Given the description of an element on the screen output the (x, y) to click on. 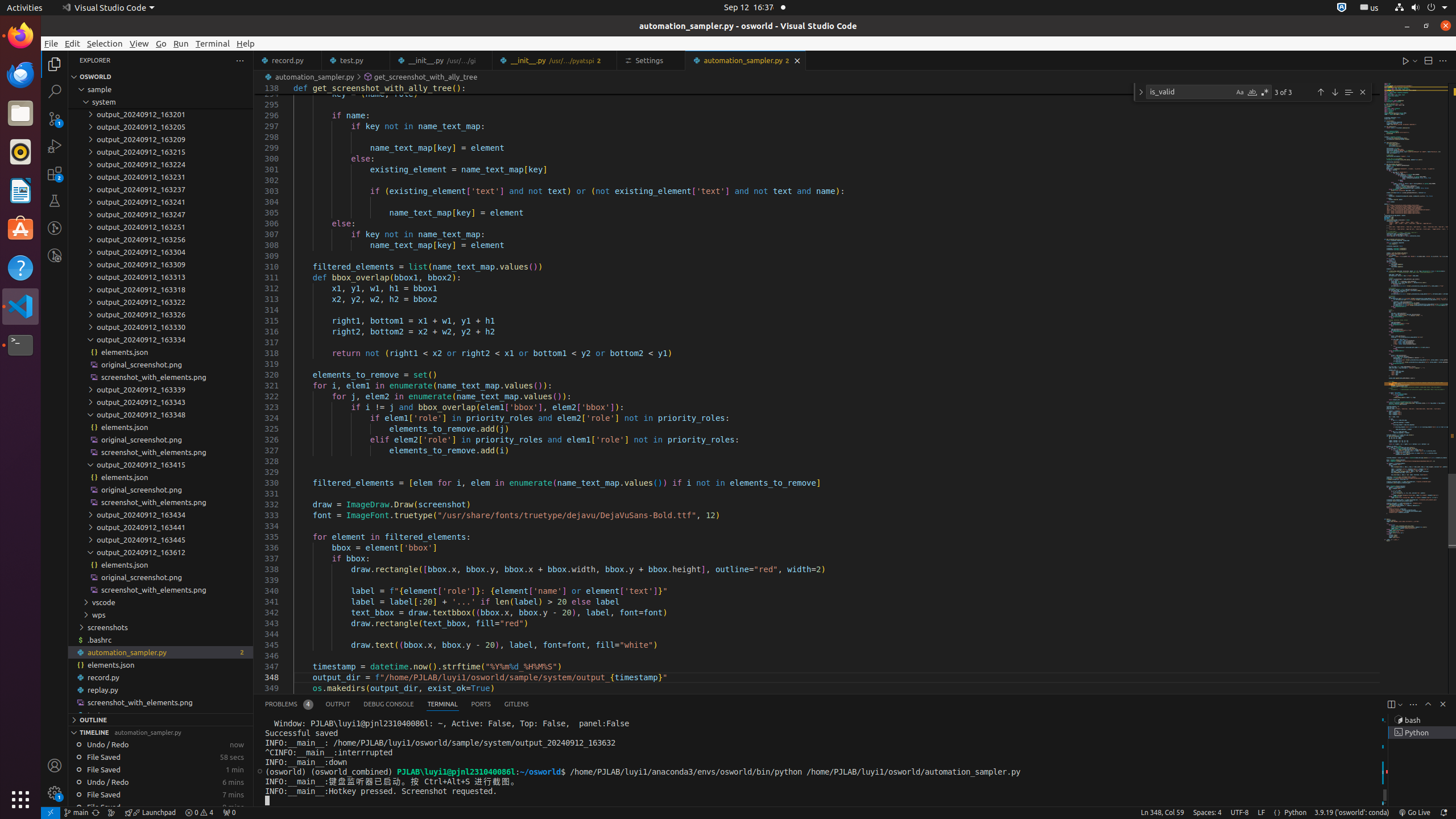
output_20240912_163247 Element type: tree-item (160, 214)
__init__.py Element type: page-tab (554, 60)
record.py Element type: tree-item (160, 677)
output_20240912_163415 Element type: tree-item (160, 464)
Warnings: 4 Element type: push-button (199, 812)
